Given the description of an element on the screen output the (x, y) to click on. 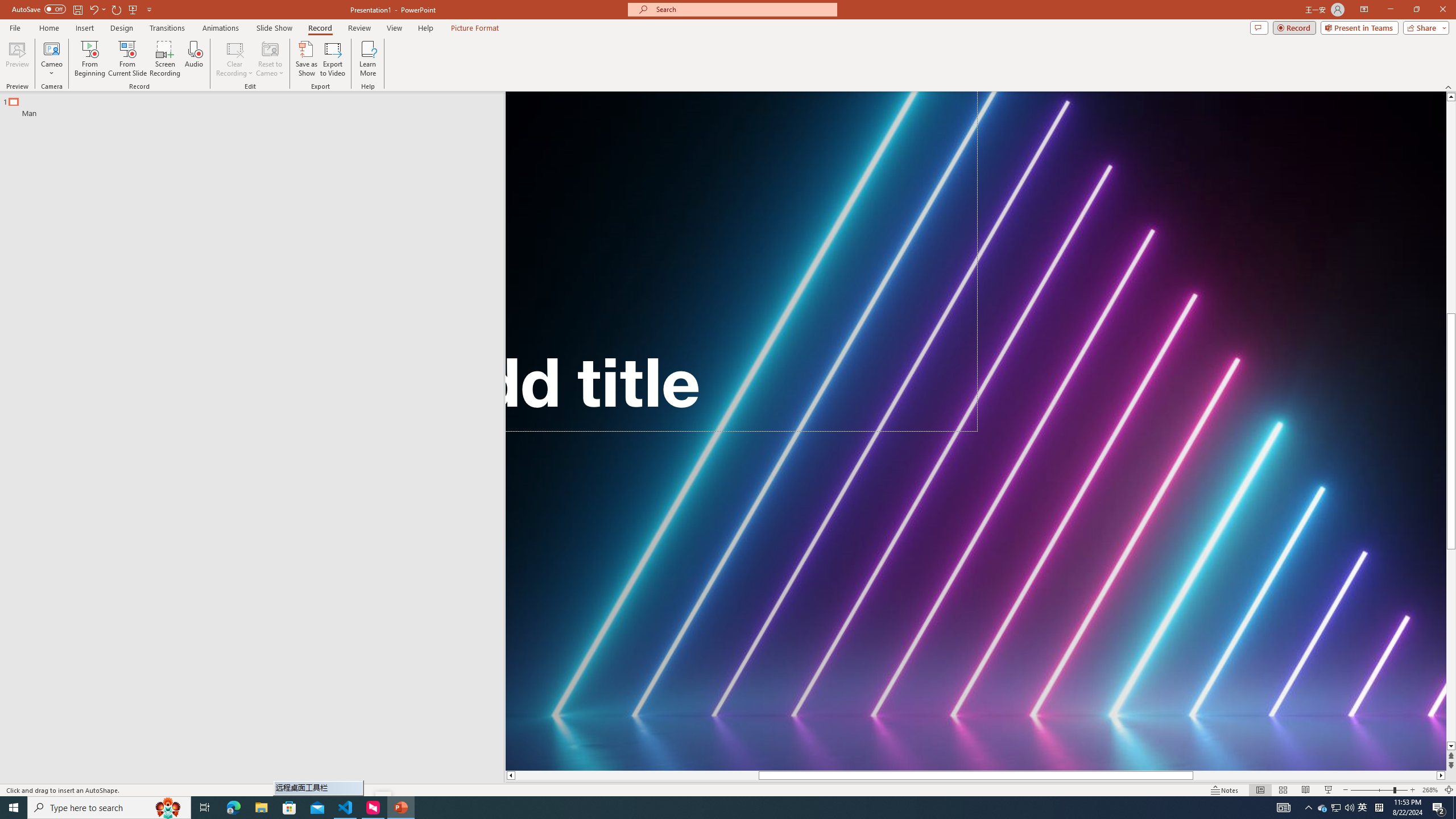
Save (77, 9)
Restore Down (1416, 9)
Slide Sorter (1282, 790)
Cameo (51, 58)
AutoSave (38, 9)
Present in Teams (1359, 27)
Outline (256, 104)
Zoom In (1412, 790)
From Current Slide... (127, 58)
Rectangle (246, 437)
Help (425, 28)
Learn More (368, 58)
